Given the description of an element on the screen output the (x, y) to click on. 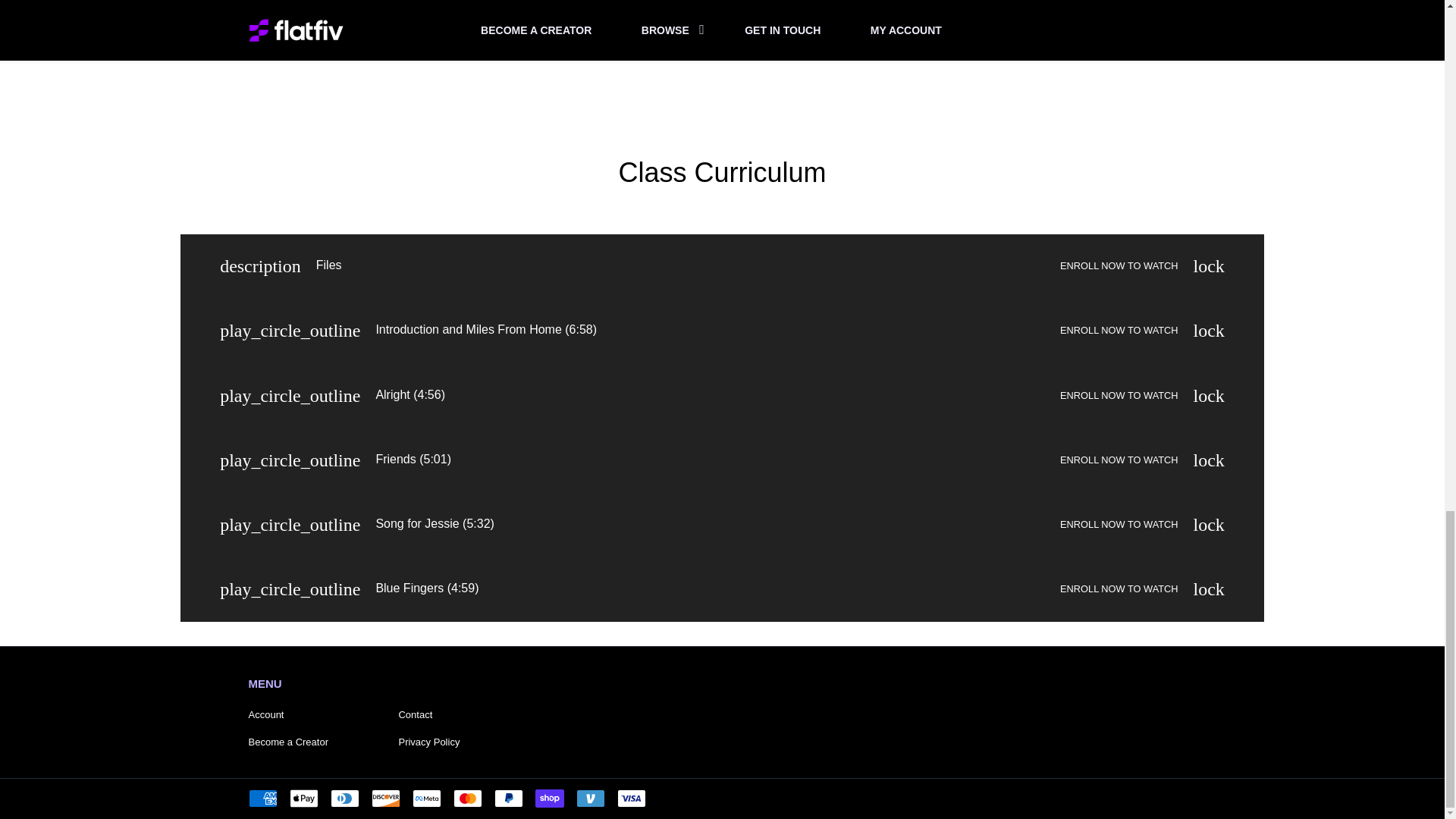
PayPal (508, 798)
Apple Pay (303, 798)
Venmo (590, 798)
ENROLL NOW TO WATCH (1118, 267)
Mastercard (466, 798)
ENROLL NOW TO WATCH (1118, 331)
Meta Pay (426, 798)
Visa (631, 798)
ENROLL NOW TO WATCH (1118, 589)
American Express (263, 798)
